Given the description of an element on the screen output the (x, y) to click on. 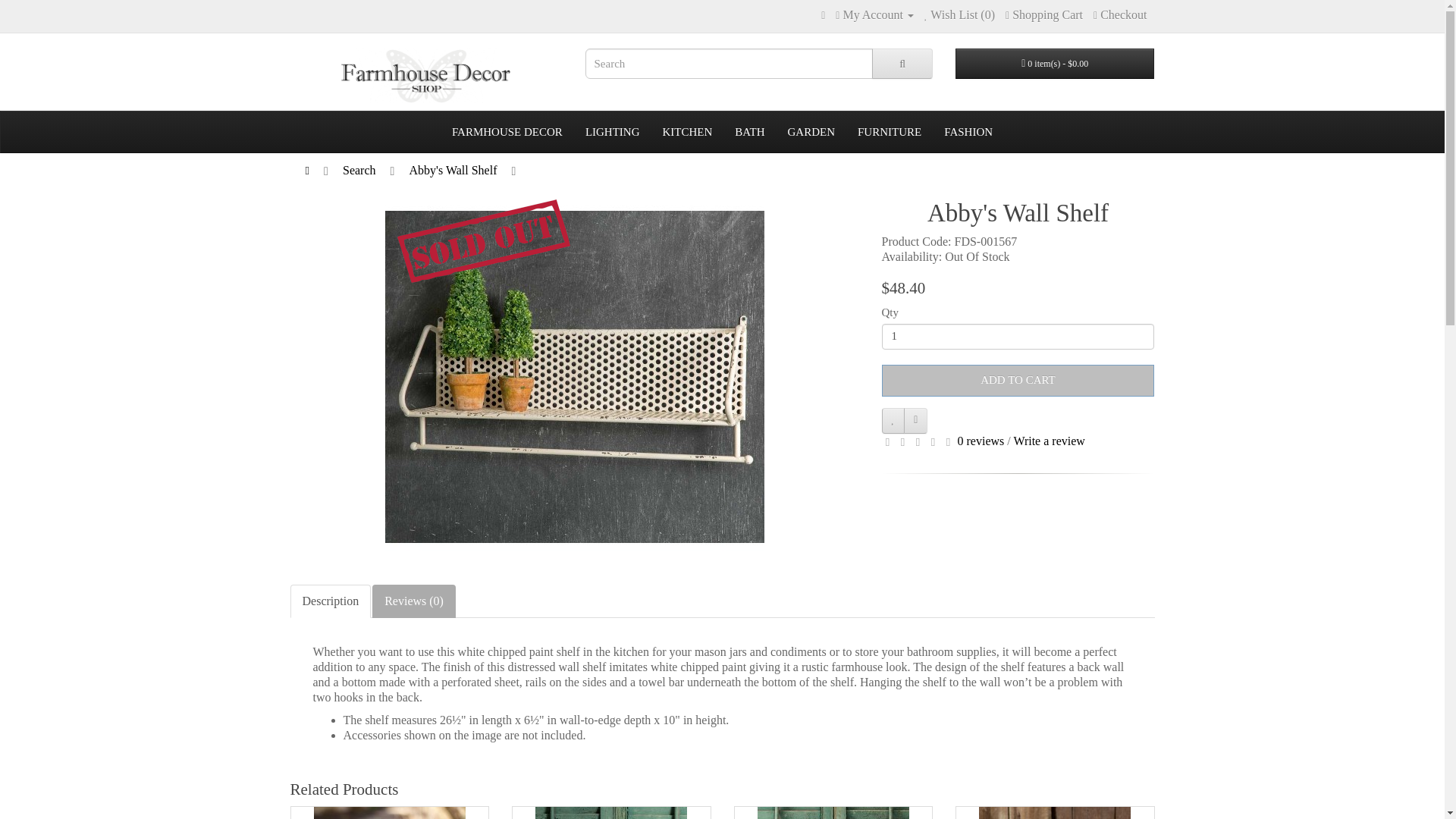
Checkout (1120, 14)
Checkout (1120, 14)
Set of 2 Stadium Serving Trays (1054, 812)
Salinas Pick-up Truck (389, 812)
Shopping Cart (1044, 14)
Shopping Cart (1044, 14)
FARMHOUSE DECOR (507, 132)
My Account (874, 14)
